Given the description of an element on the screen output the (x, y) to click on. 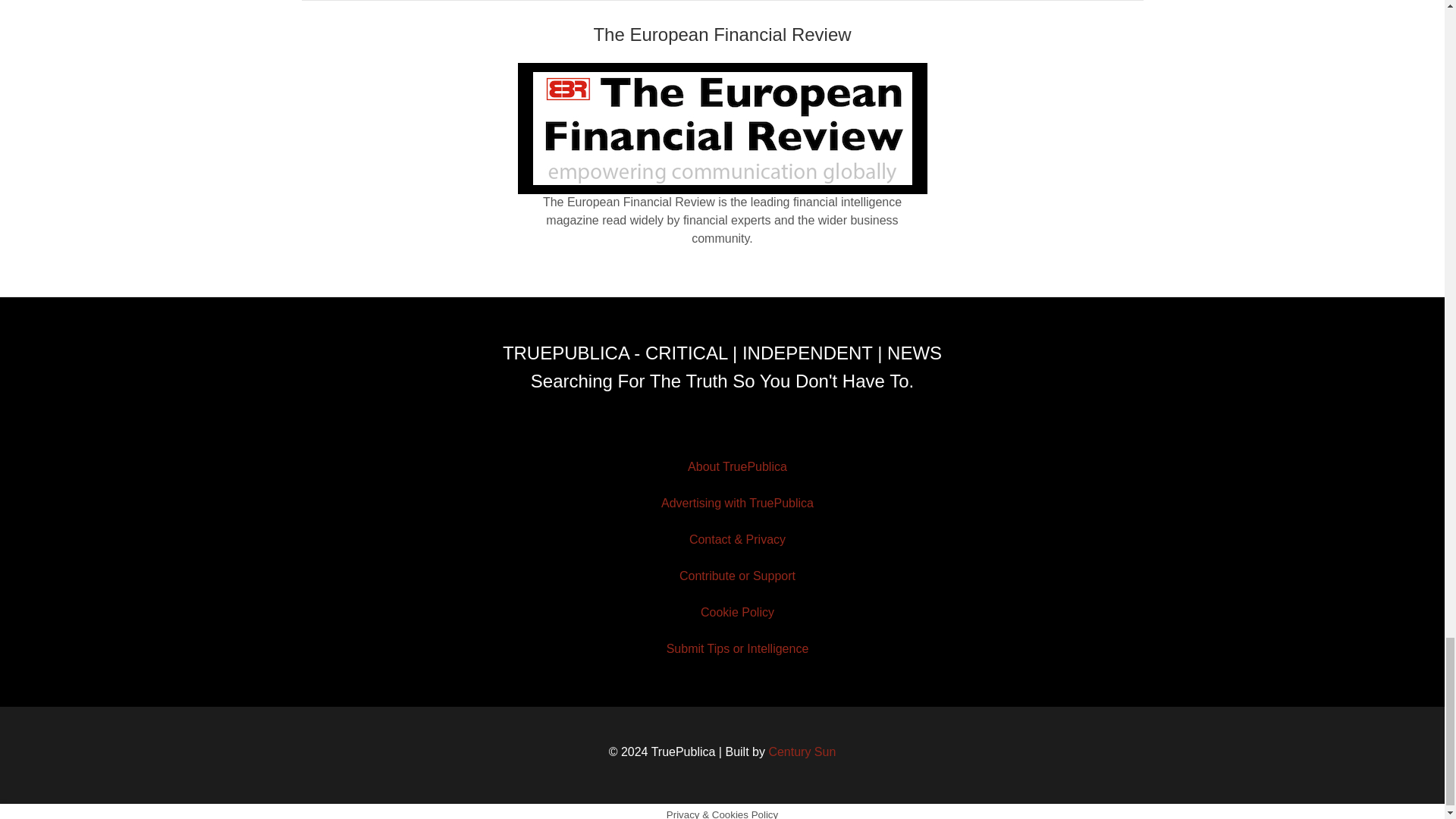
Got to European financial review website (721, 128)
